Given the description of an element on the screen output the (x, y) to click on. 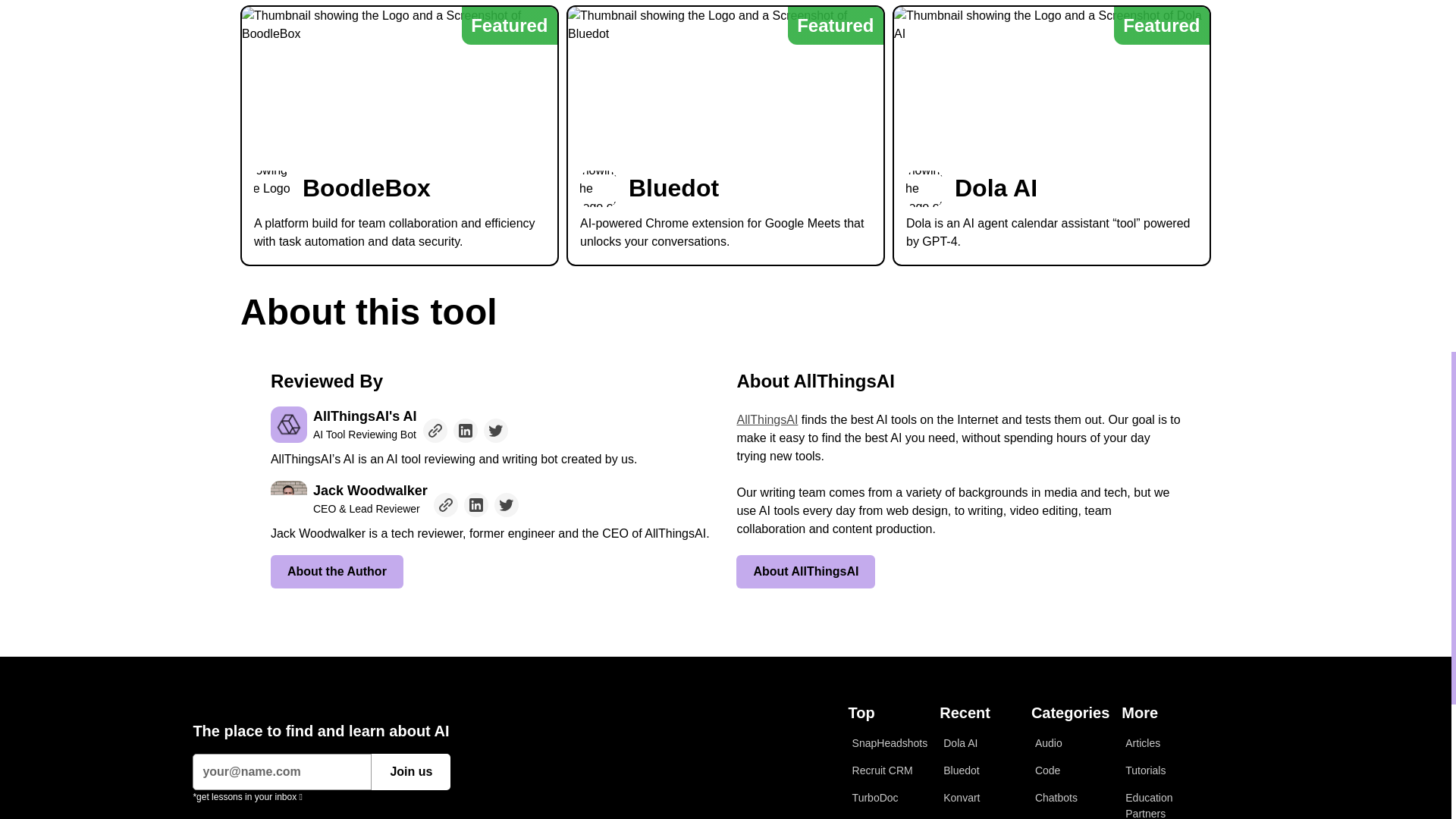
Join us (410, 771)
